Given the description of an element on the screen output the (x, y) to click on. 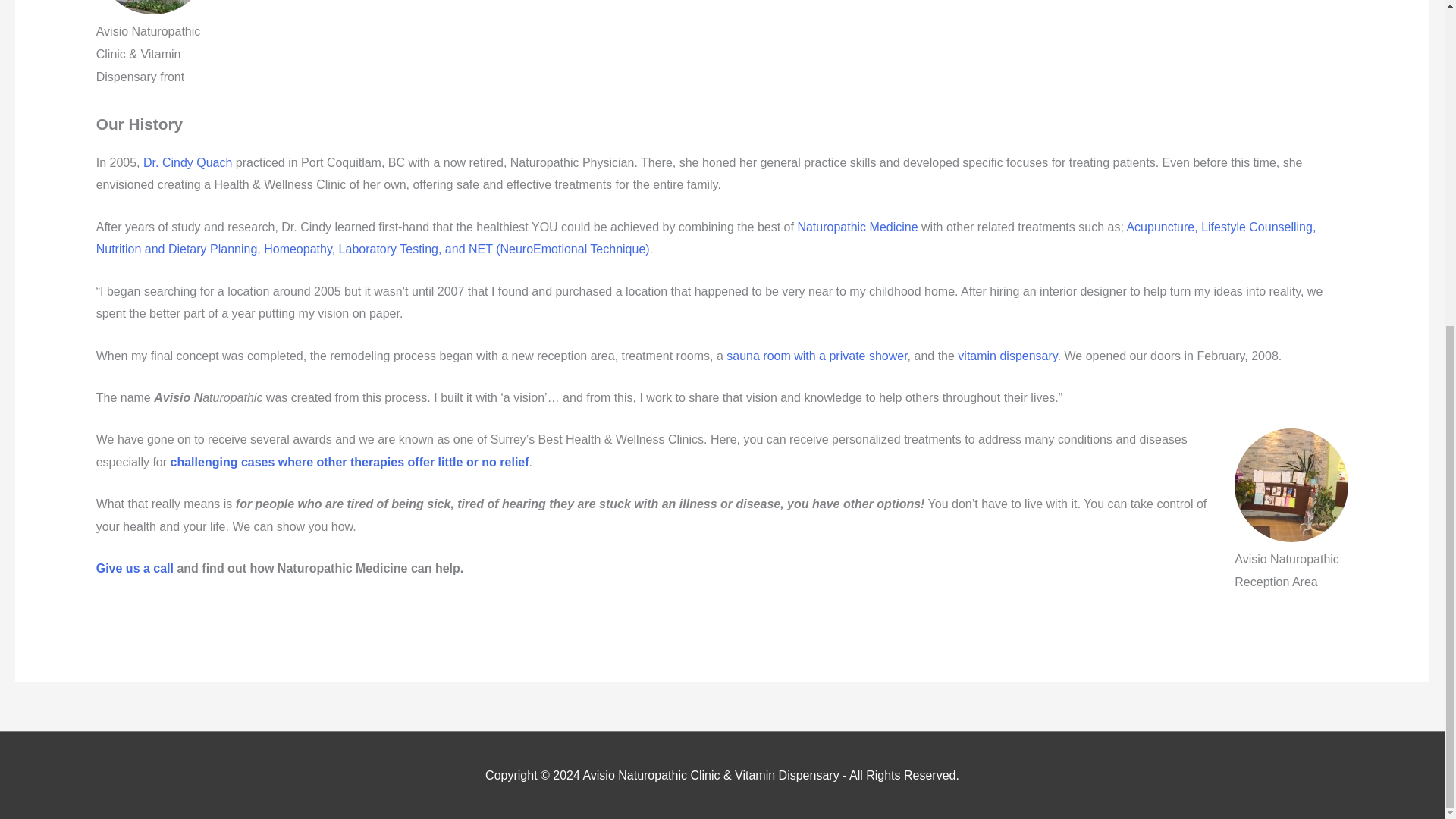
sauna room with a private shower (816, 355)
Give us a call (134, 567)
Naturopathic Medicine (856, 226)
vitamin dispensary (1007, 355)
Dr. Cindy Quach (186, 162)
